Given the description of an element on the screen output the (x, y) to click on. 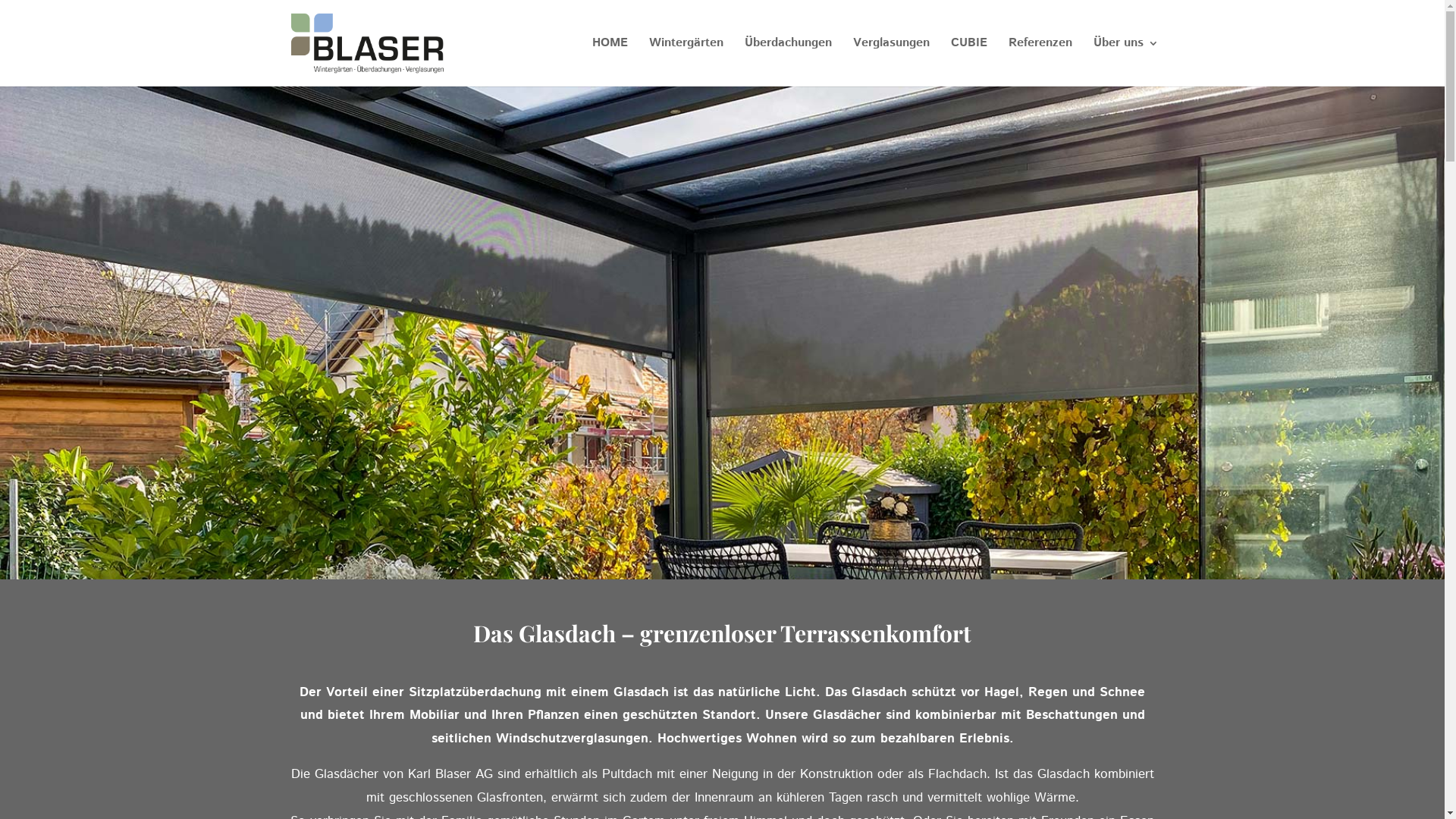
CUBIE Element type: text (968, 61)
HOME Element type: text (609, 61)
Verglasungen Element type: text (890, 61)
Referenzen Element type: text (1040, 61)
